Given the description of an element on the screen output the (x, y) to click on. 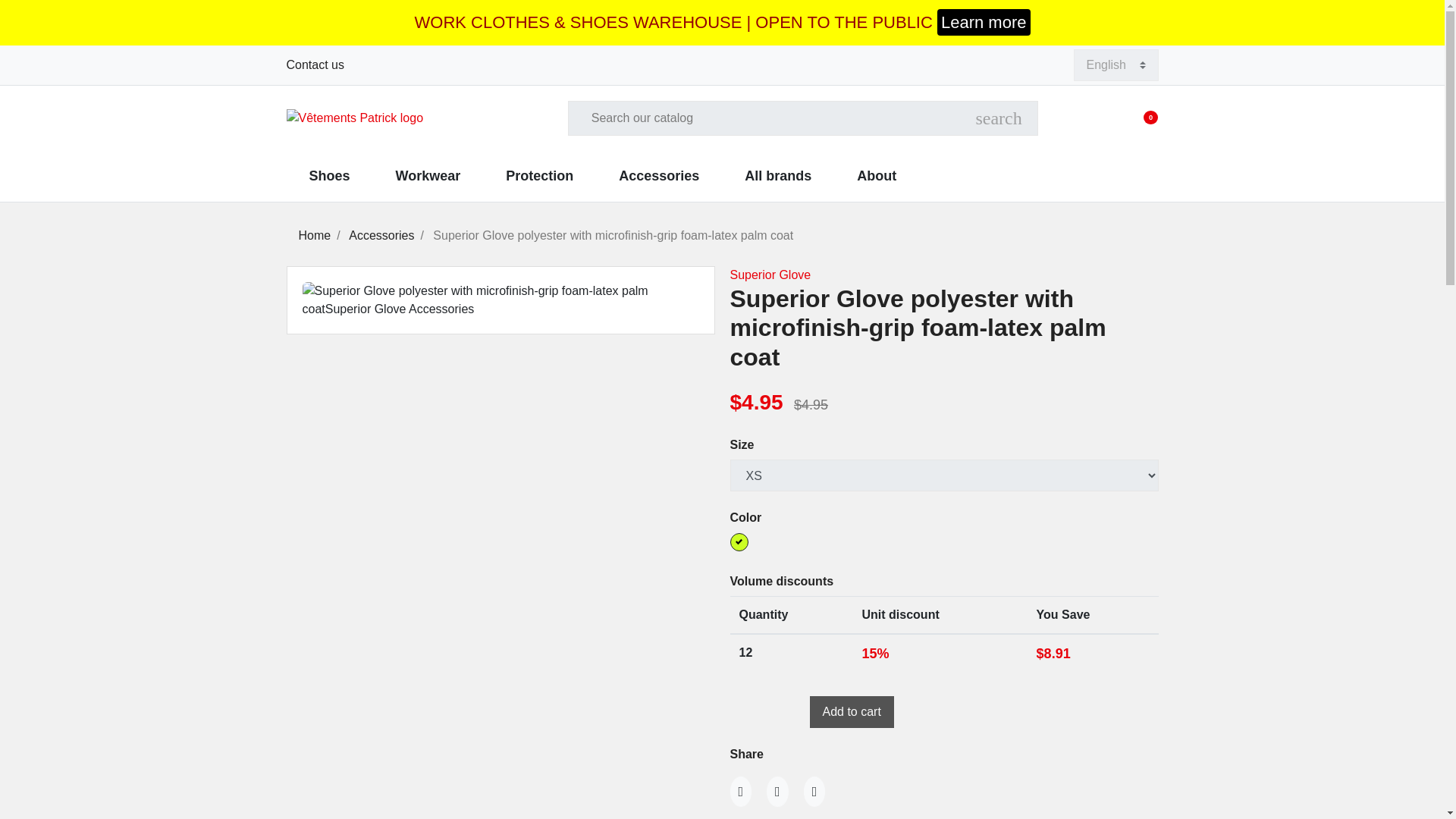
Log in to your customer account (1120, 118)
0 (1150, 118)
Protection (539, 175)
Learn more (983, 22)
Shoes (329, 175)
Contact us (314, 64)
Workwear (427, 175)
search (997, 117)
